Given the description of an element on the screen output the (x, y) to click on. 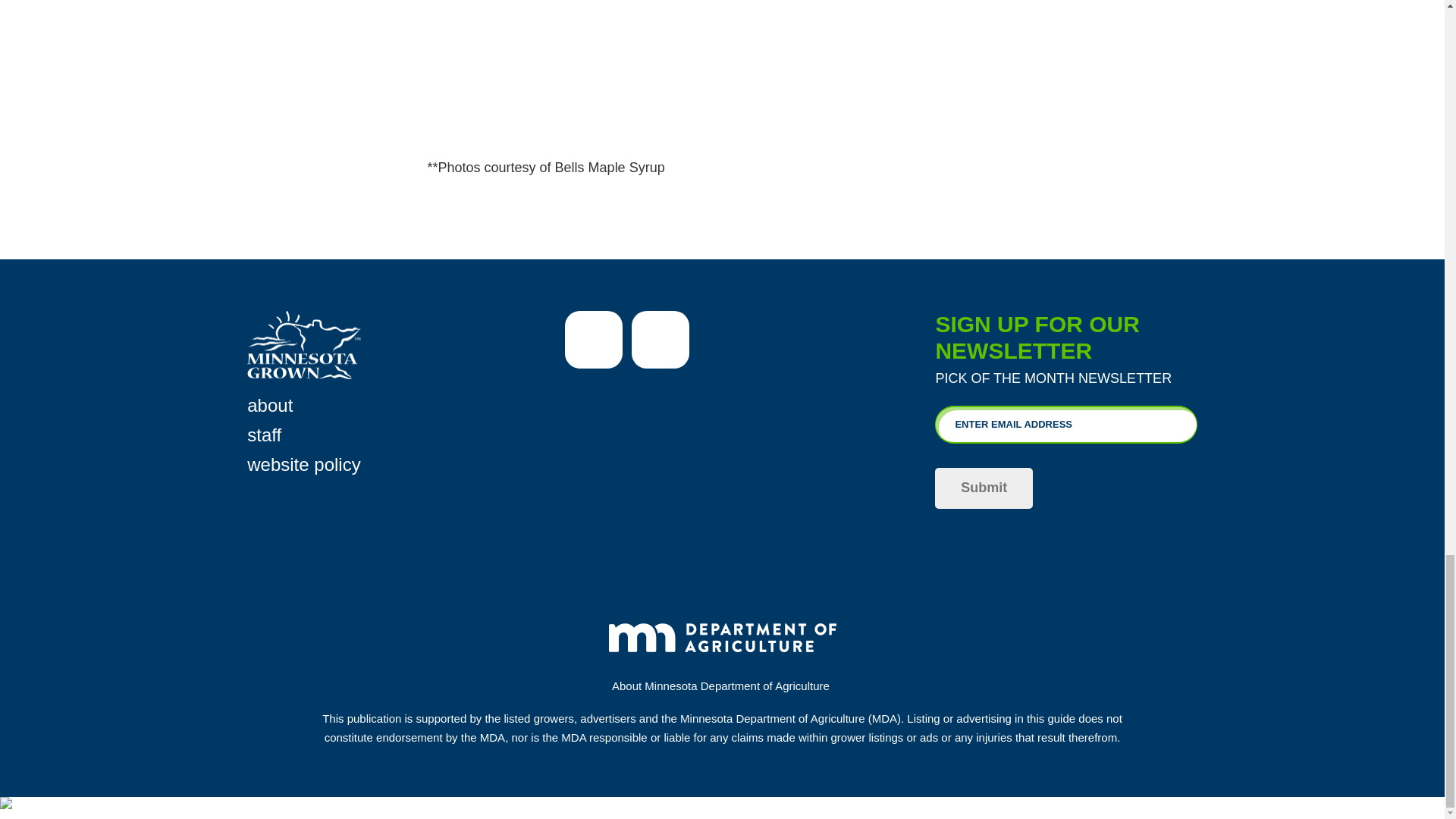
Live Local: Maple Custard (722, 70)
Submit (983, 487)
